Given the description of an element on the screen output the (x, y) to click on. 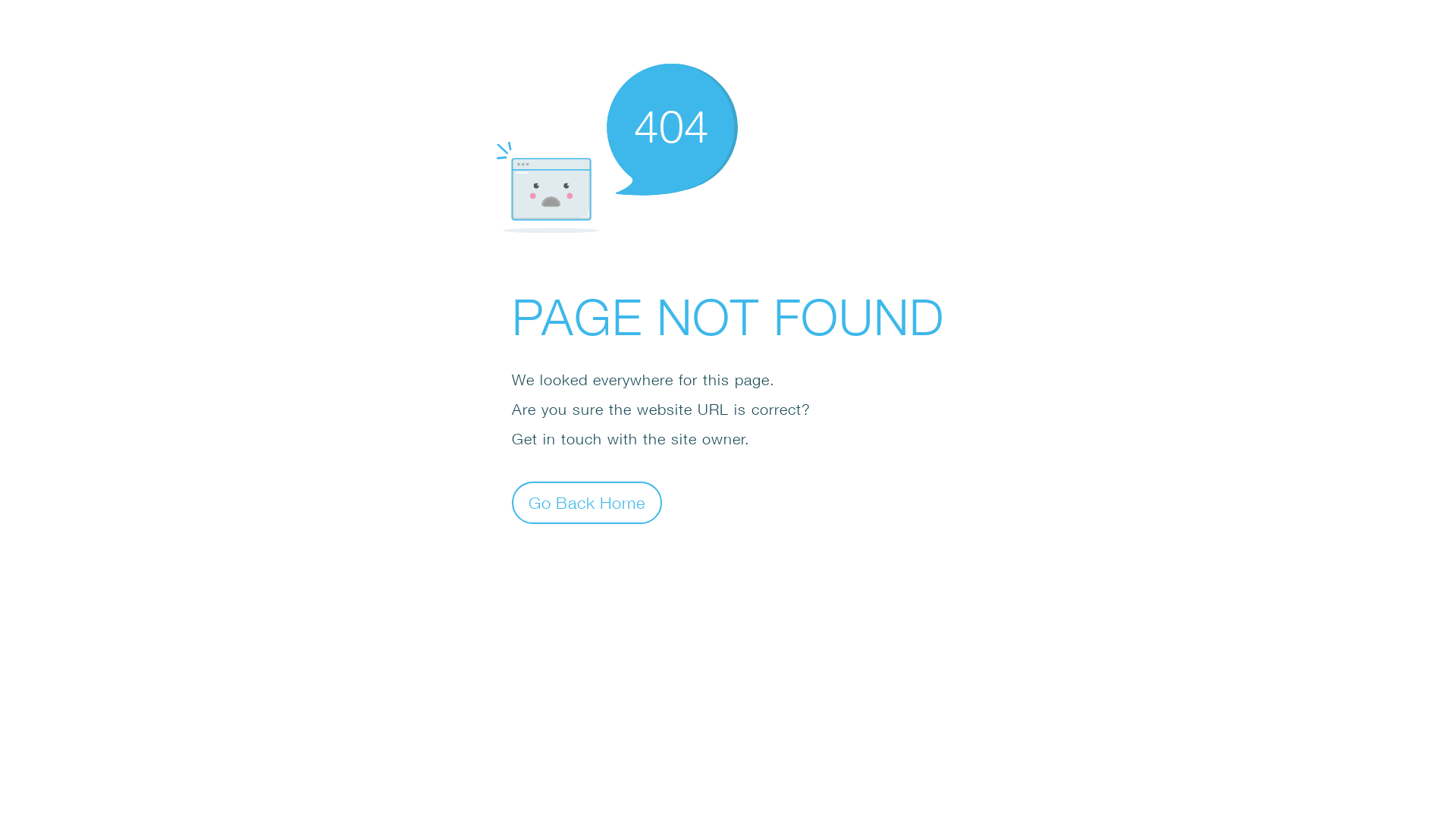
Go Back Home Element type: text (586, 502)
